Given the description of an element on the screen output the (x, y) to click on. 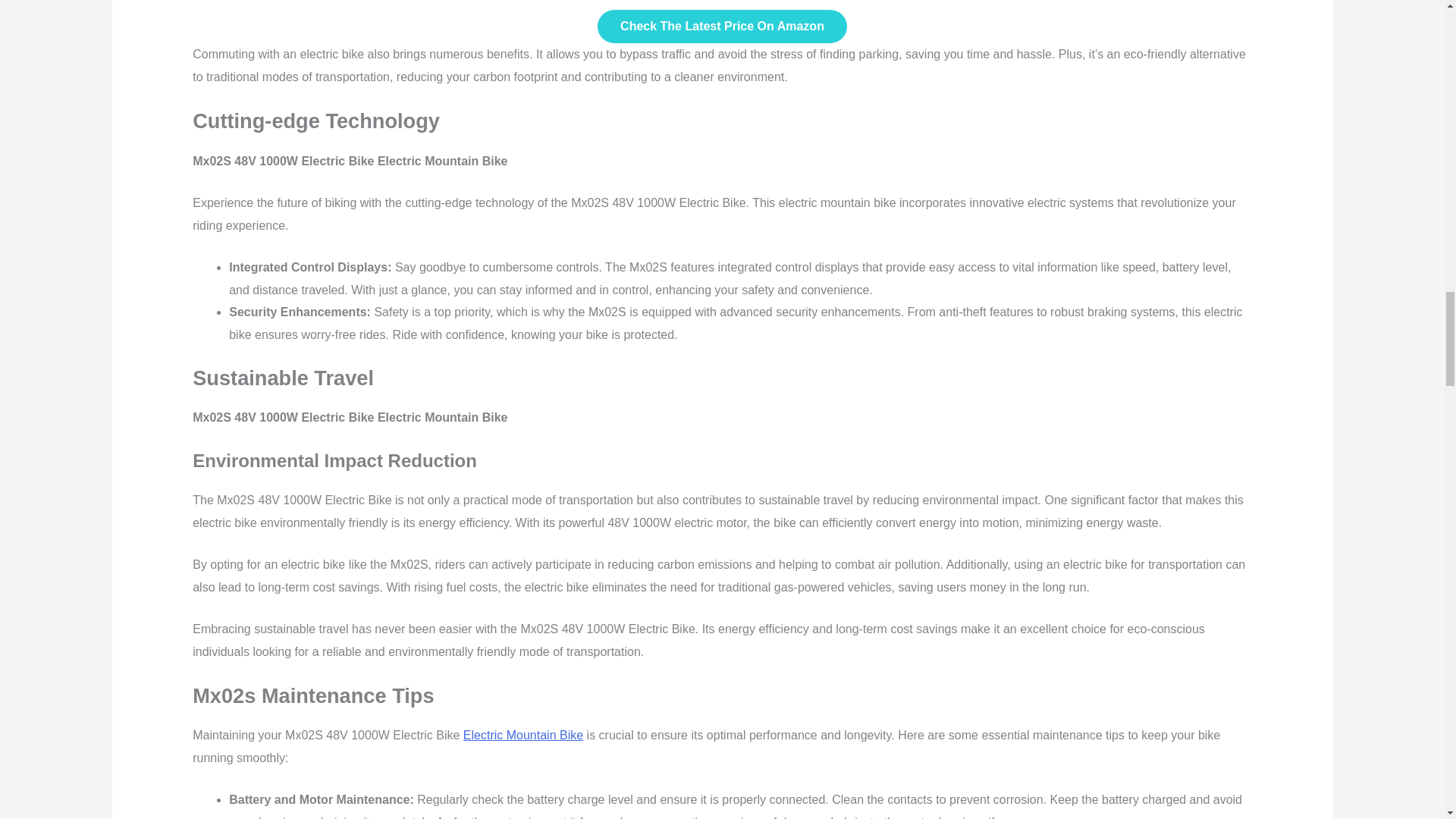
Check The Latest Price On Amazon (721, 26)
Electric Mountain Bike (523, 735)
